Given the description of an element on the screen output the (x, y) to click on. 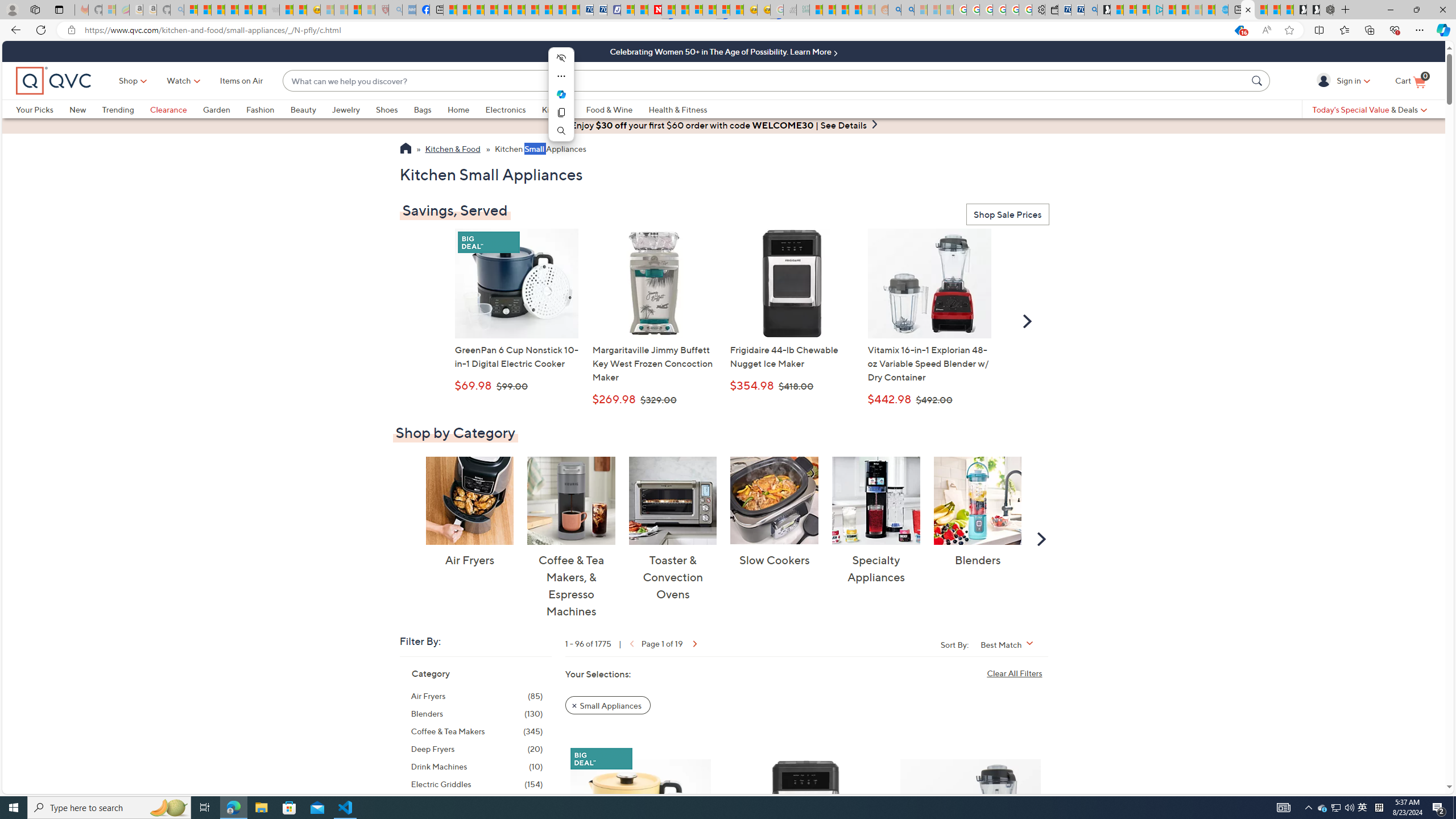
Today's Special Value & Deals (1369, 109)
Jewelry (345, 109)
Bags (429, 109)
Clear All Filters (1017, 672)
Items on Air (241, 80)
Mini menu on text selection (560, 101)
Kitchen (555, 109)
Ask Copilot (560, 94)
New Report Confirms 2023 Was Record Hot | Watch (245, 9)
Today's Special Value & Deals (1369, 109)
